Given the description of an element on the screen output the (x, y) to click on. 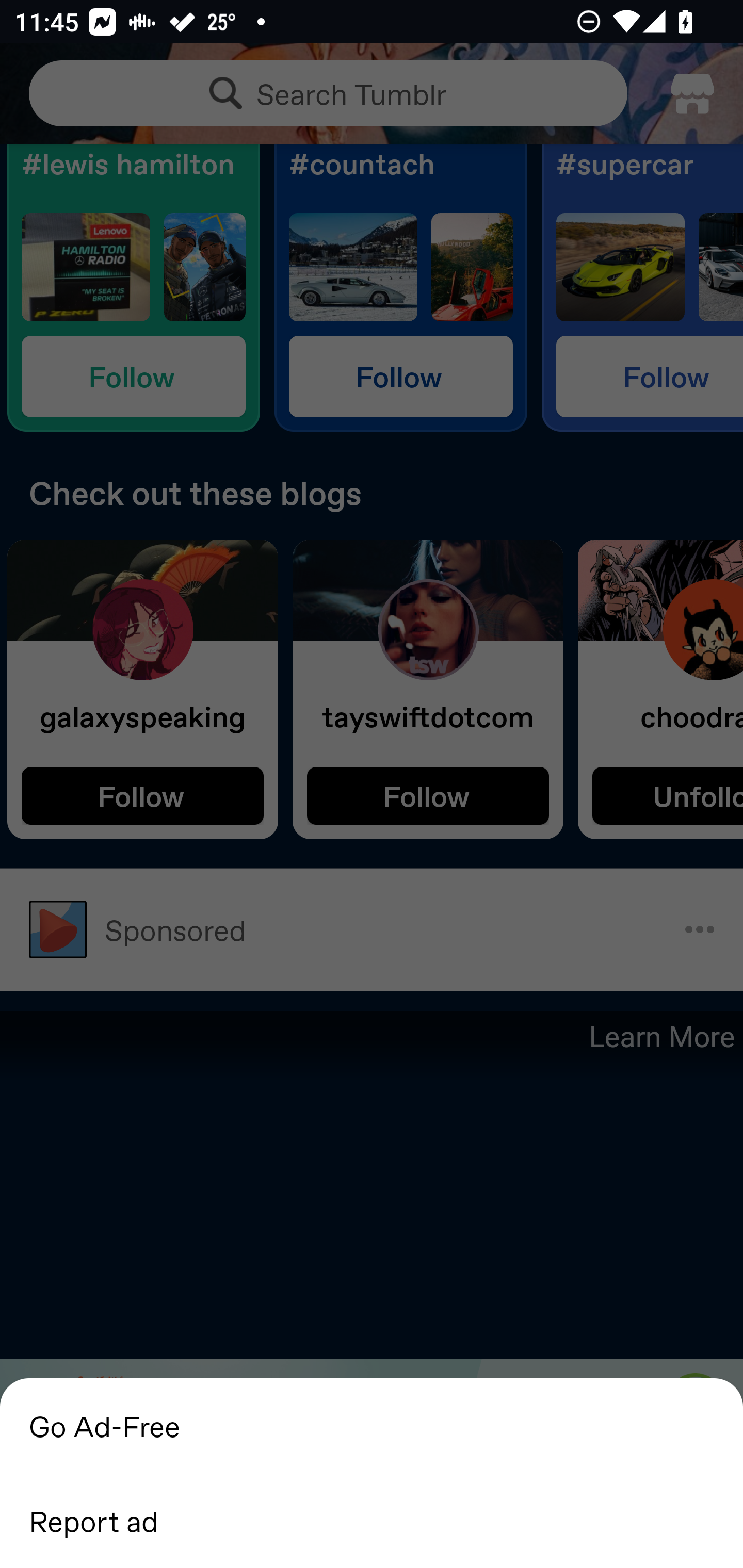
Go Ad-Free (371, 1425)
Report ad (371, 1520)
